Given the description of an element on the screen output the (x, y) to click on. 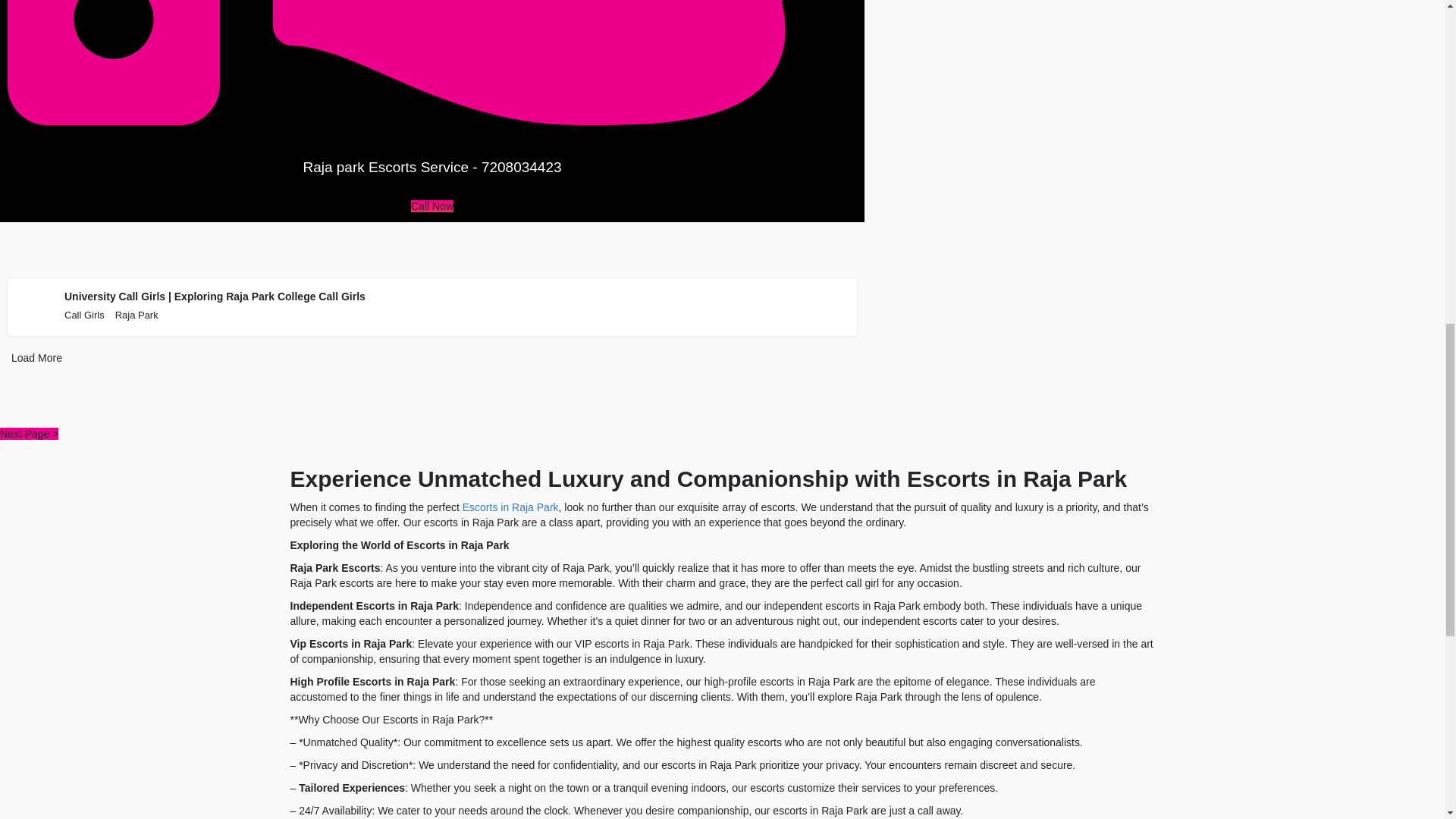
Load More (36, 357)
Escorts in Raja Park (511, 507)
Call Now (431, 205)
